Given the description of an element on the screen output the (x, y) to click on. 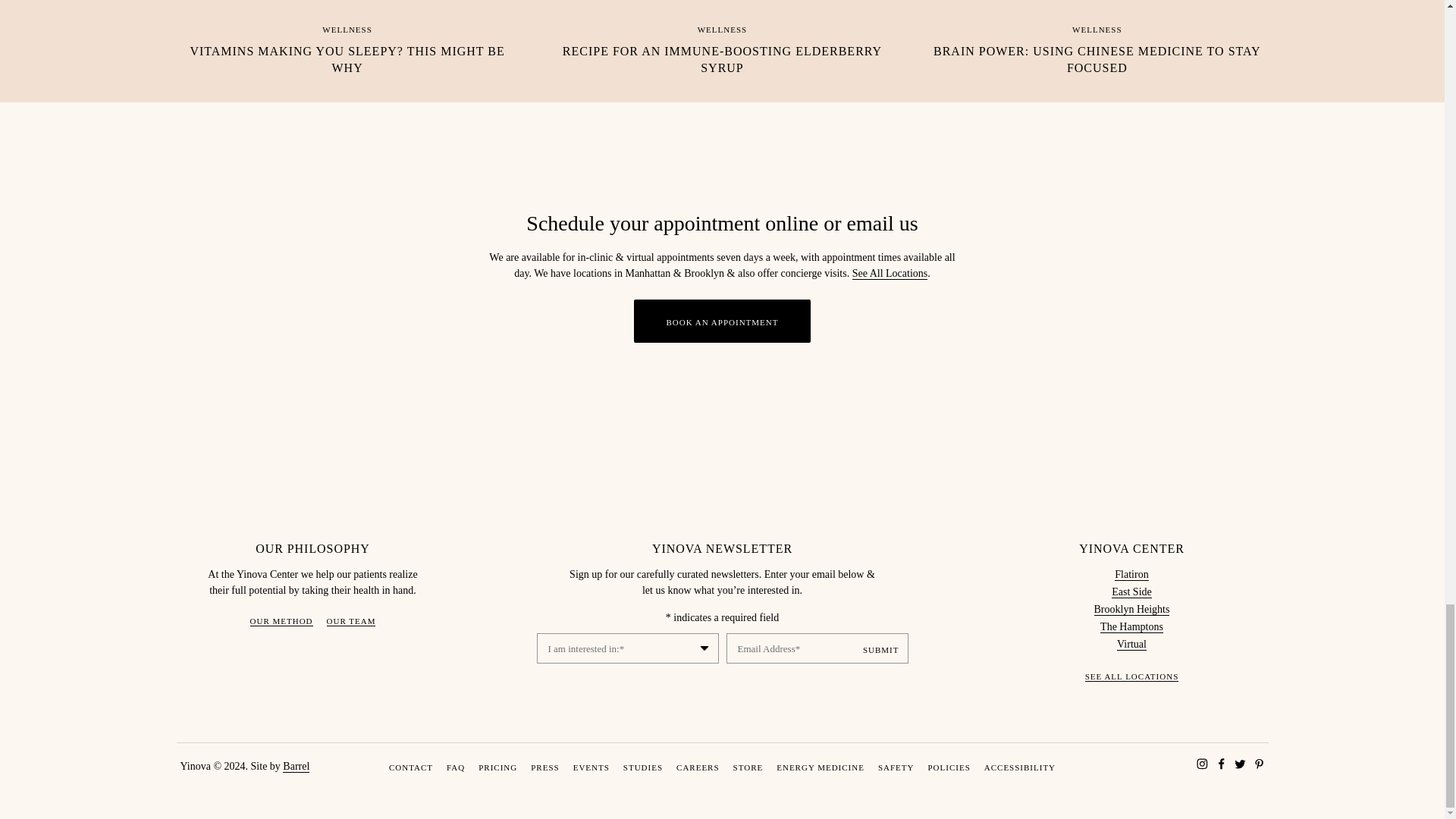
Submit (880, 649)
Brain Power: Using Chinese Medicine to Stay Focused (1097, 38)
Recipe for an Immune-Boosting Elderberry Syrup (722, 38)
Vitamins Making You Sleepy? This Might Be Why (347, 38)
